Given the description of an element on the screen output the (x, y) to click on. 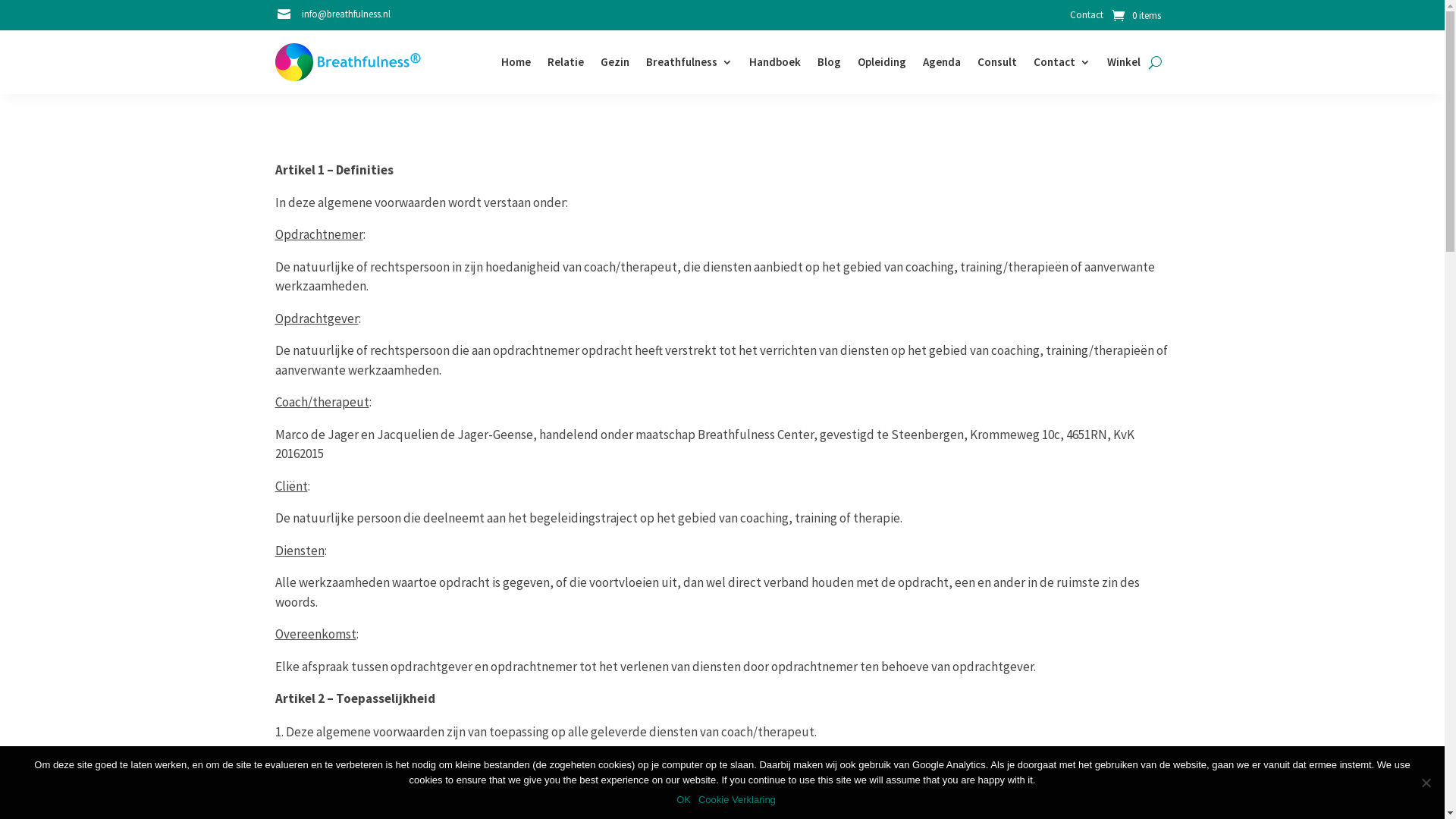
Breathfulness Element type: text (689, 62)
0 items Element type: text (1136, 14)
Blog Element type: text (828, 62)
Relatie Element type: text (565, 62)
Consult Element type: text (996, 62)
Agenda Element type: text (941, 62)
Gezin Element type: text (614, 62)
Contact Element type: text (1060, 62)
Cookie Verklaring Element type: text (736, 799)
OK Element type: text (683, 799)
Nee Element type: hover (1425, 782)
Winkel Element type: text (1123, 62)
Home Element type: text (515, 62)
Handboek Element type: text (774, 62)
Opleiding Element type: text (880, 62)
Contact Element type: text (1086, 17)
